Given the description of an element on the screen output the (x, y) to click on. 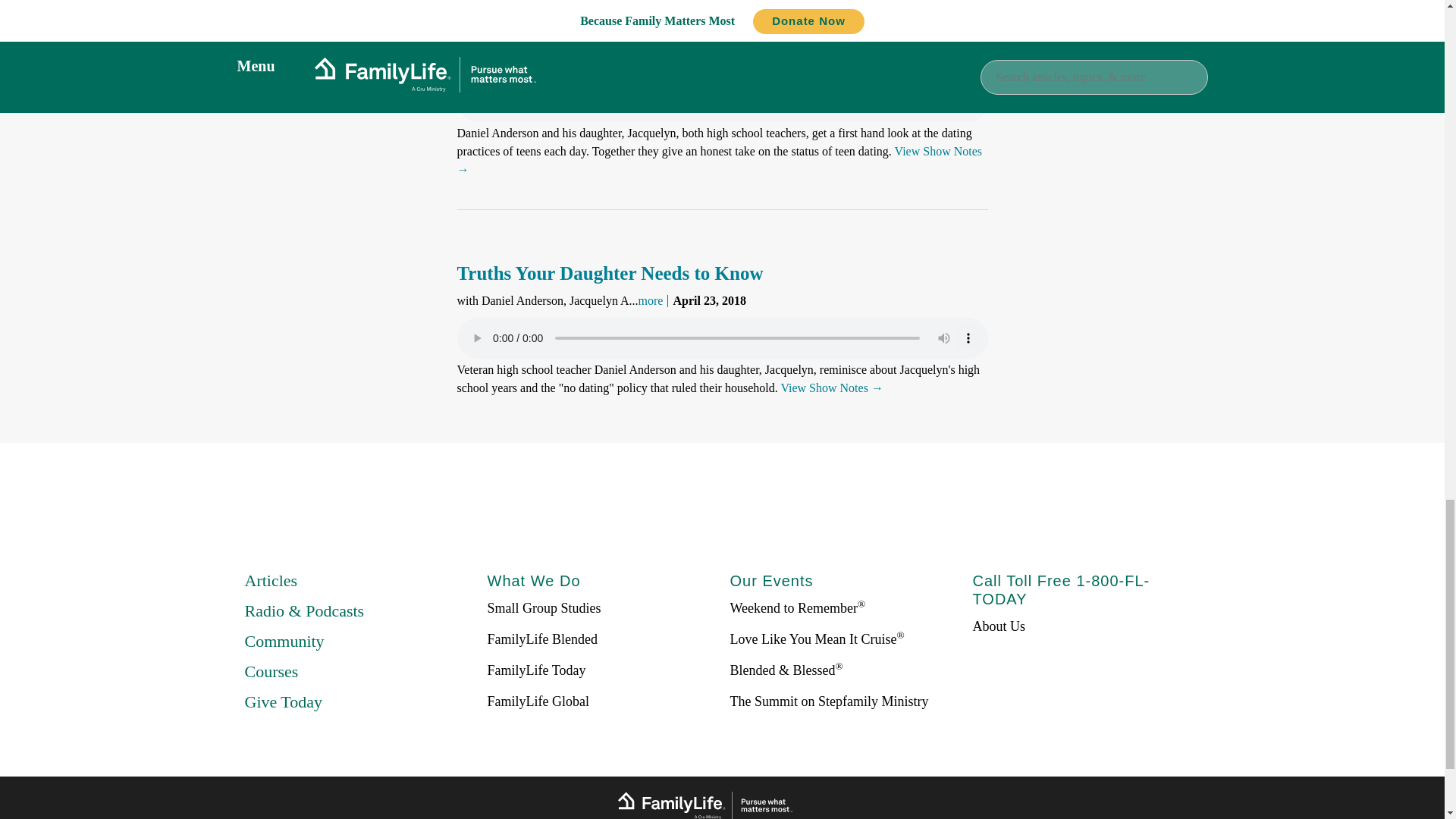
Small Group Studies (542, 607)
Courses (271, 670)
FamilyLife Global (537, 701)
Give Today (282, 701)
FamilyLife Today (535, 670)
more (651, 300)
FamilyLife Blended (541, 639)
more (651, 63)
Community (283, 640)
The Summit on Stepfamily Ministry (828, 701)
About Us (998, 626)
Articles (270, 579)
Protecting Your Teen (542, 36)
Truths Your Daughter Needs to Know (609, 272)
